Given the description of an element on the screen output the (x, y) to click on. 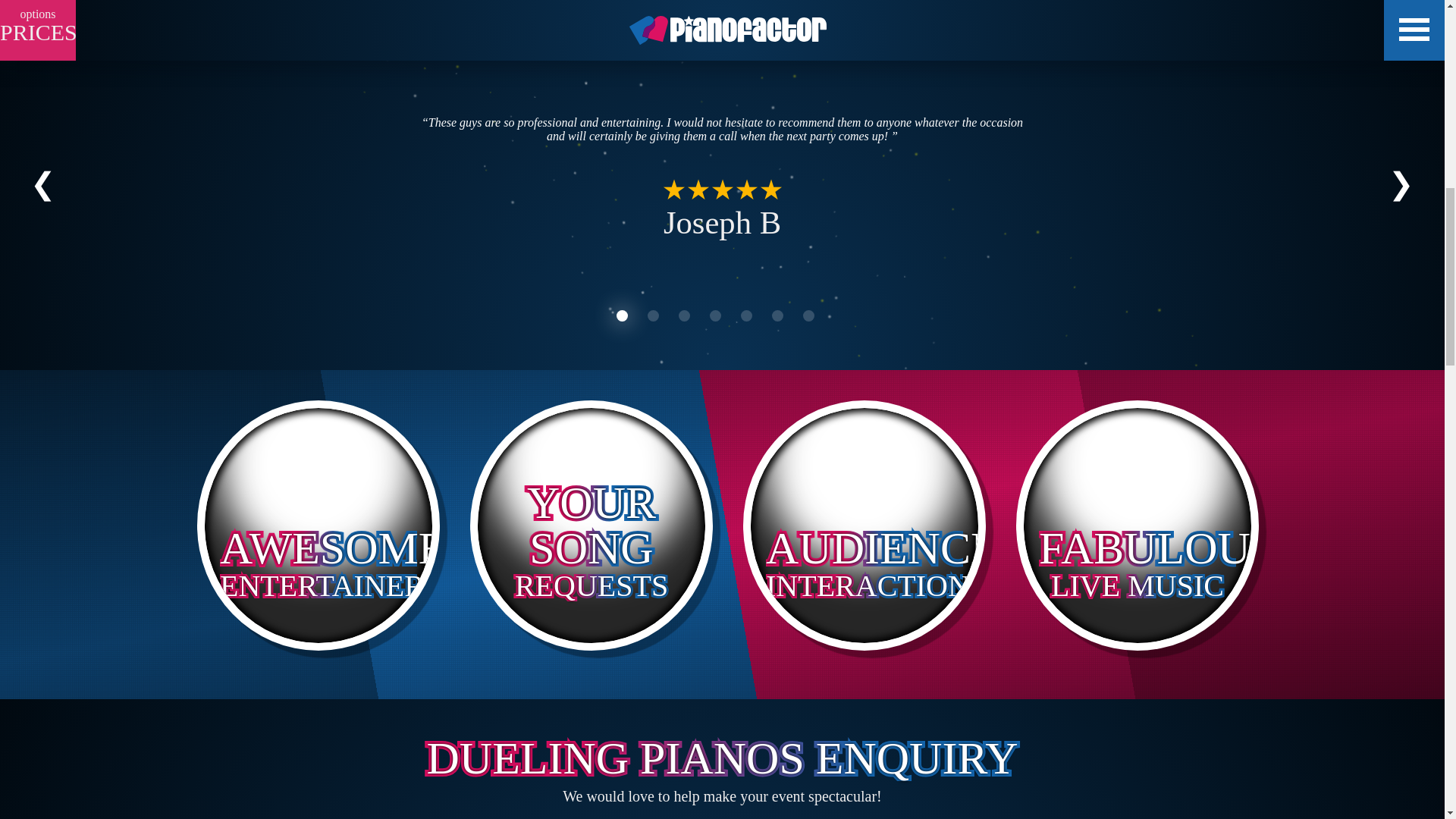
on (336, 536)
